Given the description of an element on the screen output the (x, y) to click on. 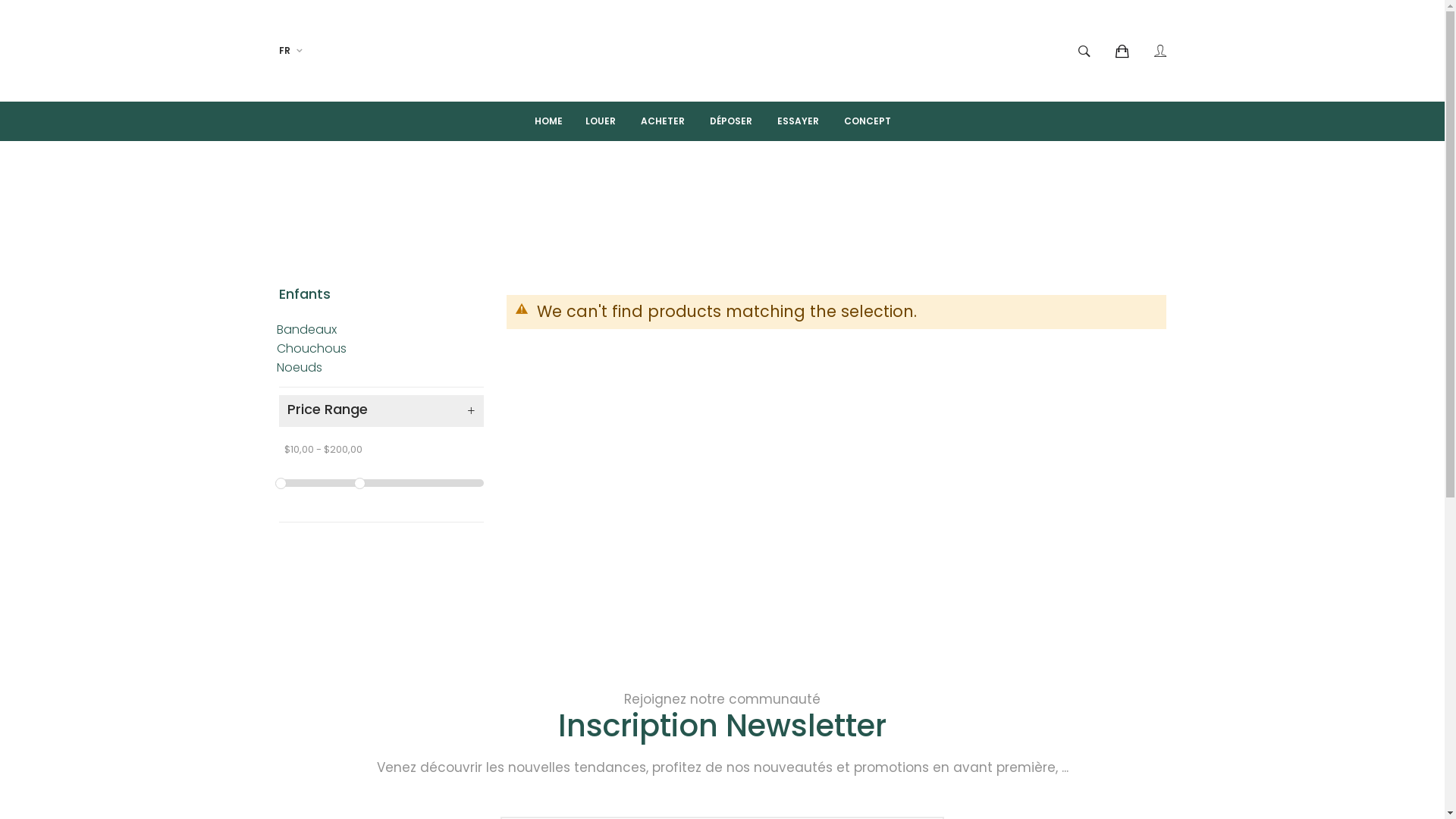
Bandeaux Element type: text (305, 329)
Noeuds Element type: text (298, 367)
LOUER Element type: text (600, 121)
HOME Element type: text (557, 121)
Enfants  Element type: text (306, 293)
ACHETER Element type: text (662, 121)
BeCoquette Element type: hover (722, 50)
CONCEPT Element type: text (867, 121)
Chouchous Element type: text (310, 348)
ESSAYER Element type: text (797, 121)
